Given the description of an element on the screen output the (x, y) to click on. 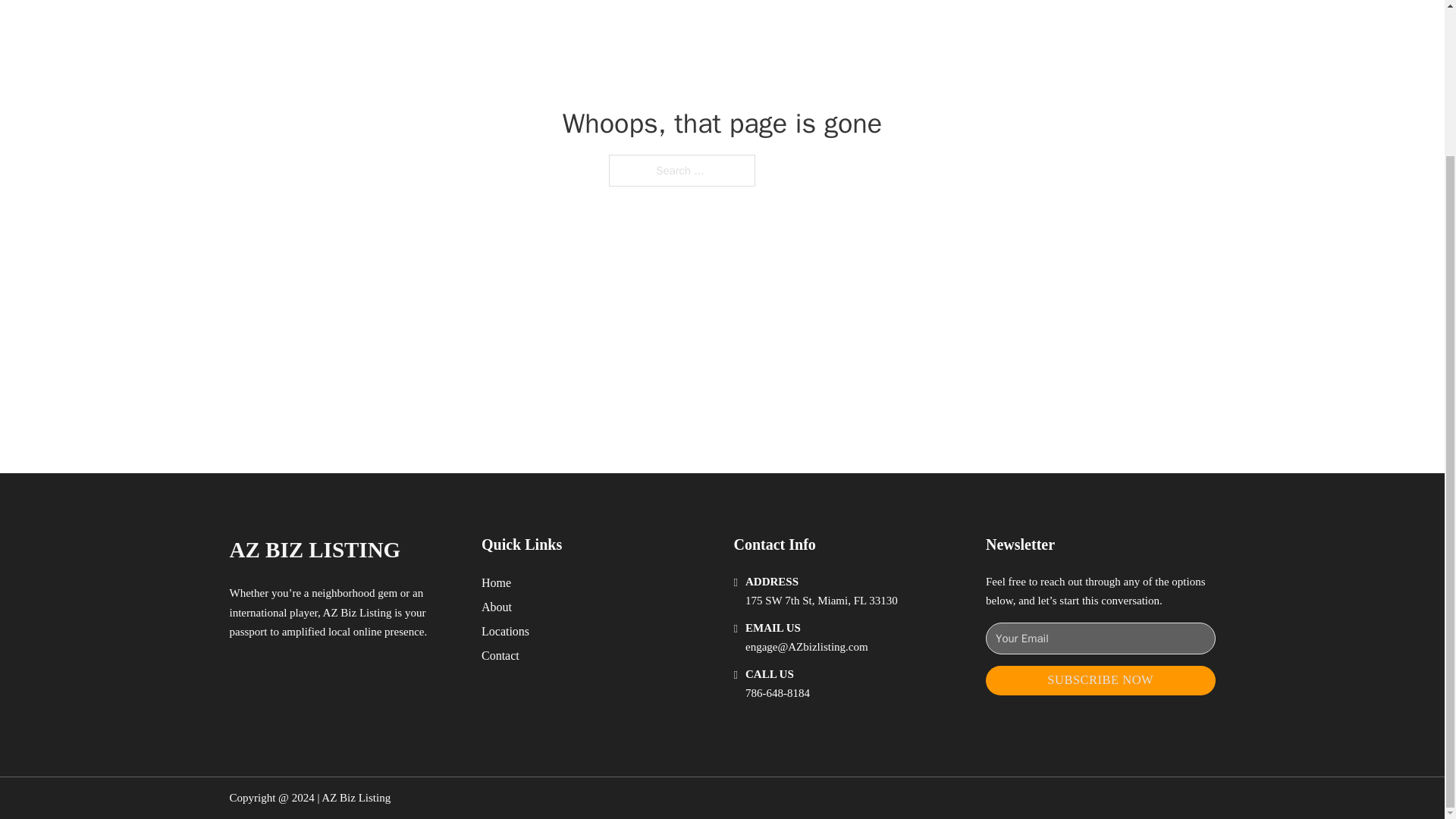
AZ BIZ LISTING (314, 549)
Home (496, 582)
786-648-8184 (777, 693)
Locations (505, 630)
Contact (500, 655)
SUBSCRIBE NOW (1100, 680)
About (496, 607)
